Given the description of an element on the screen output the (x, y) to click on. 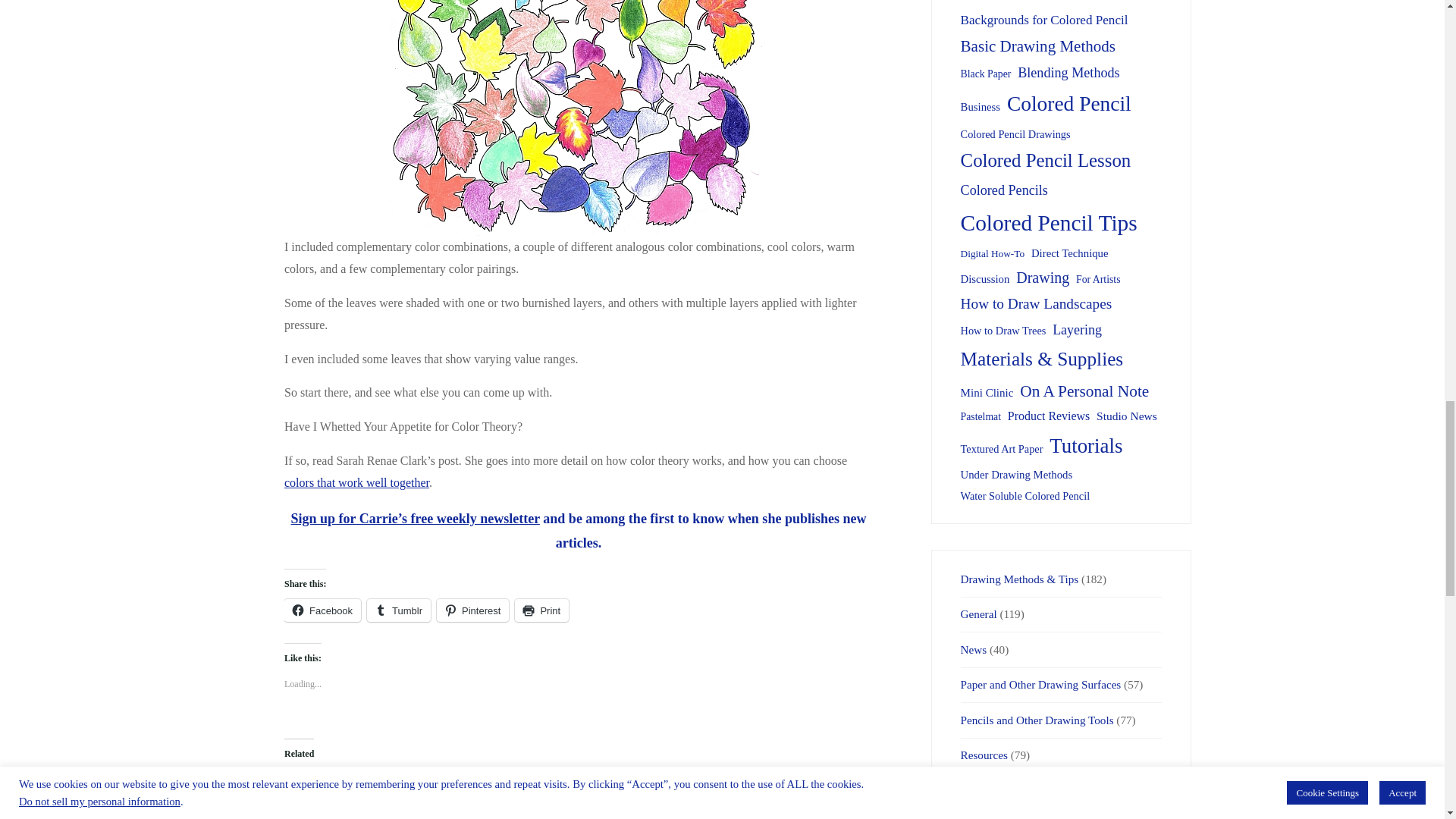
Click to share on Tumblr (398, 609)
Click to share on Facebook (321, 609)
Click to share on Pinterest (472, 609)
